Given the description of an element on the screen output the (x, y) to click on. 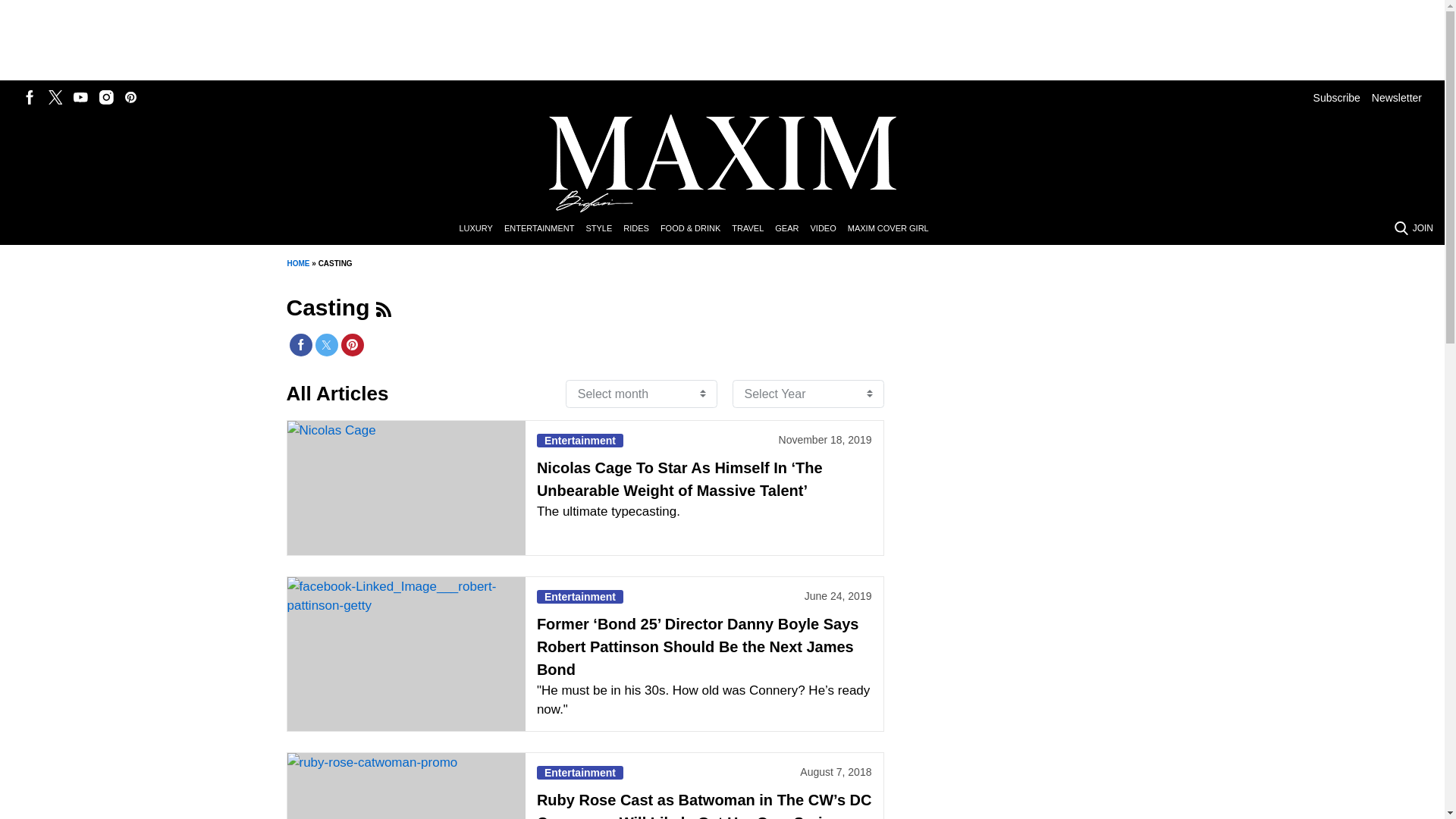
Share on Pinterest (352, 344)
RIDES (642, 228)
Share on Facebook (301, 344)
HOME (297, 263)
Follow us on Facebook (30, 97)
TRAVEL (753, 228)
Subscribe (1336, 97)
Follow us on Twitter (55, 97)
LUXURY (480, 228)
Group (383, 309)
